Given the description of an element on the screen output the (x, y) to click on. 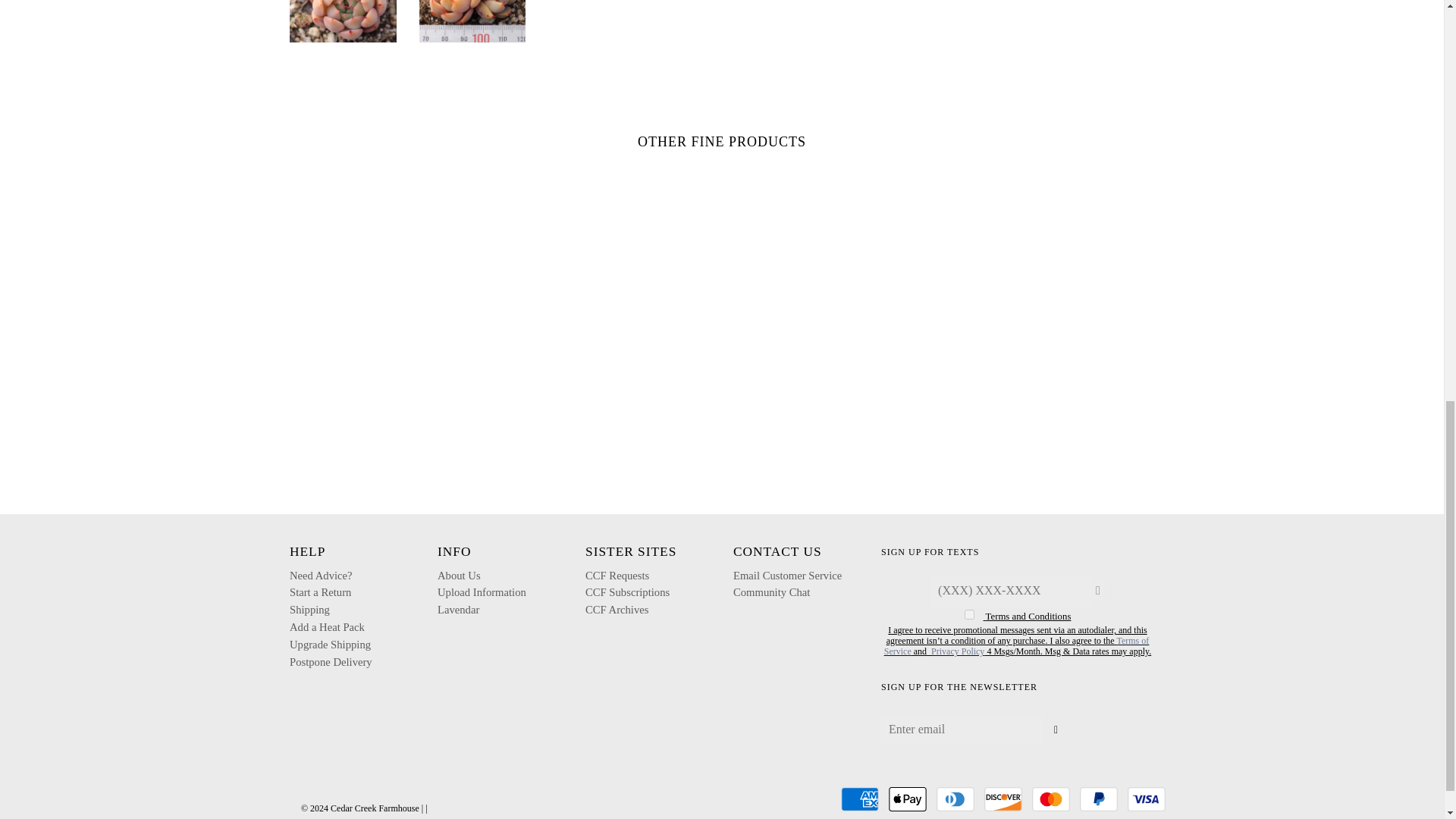
on (968, 614)
